Given the description of an element on the screen output the (x, y) to click on. 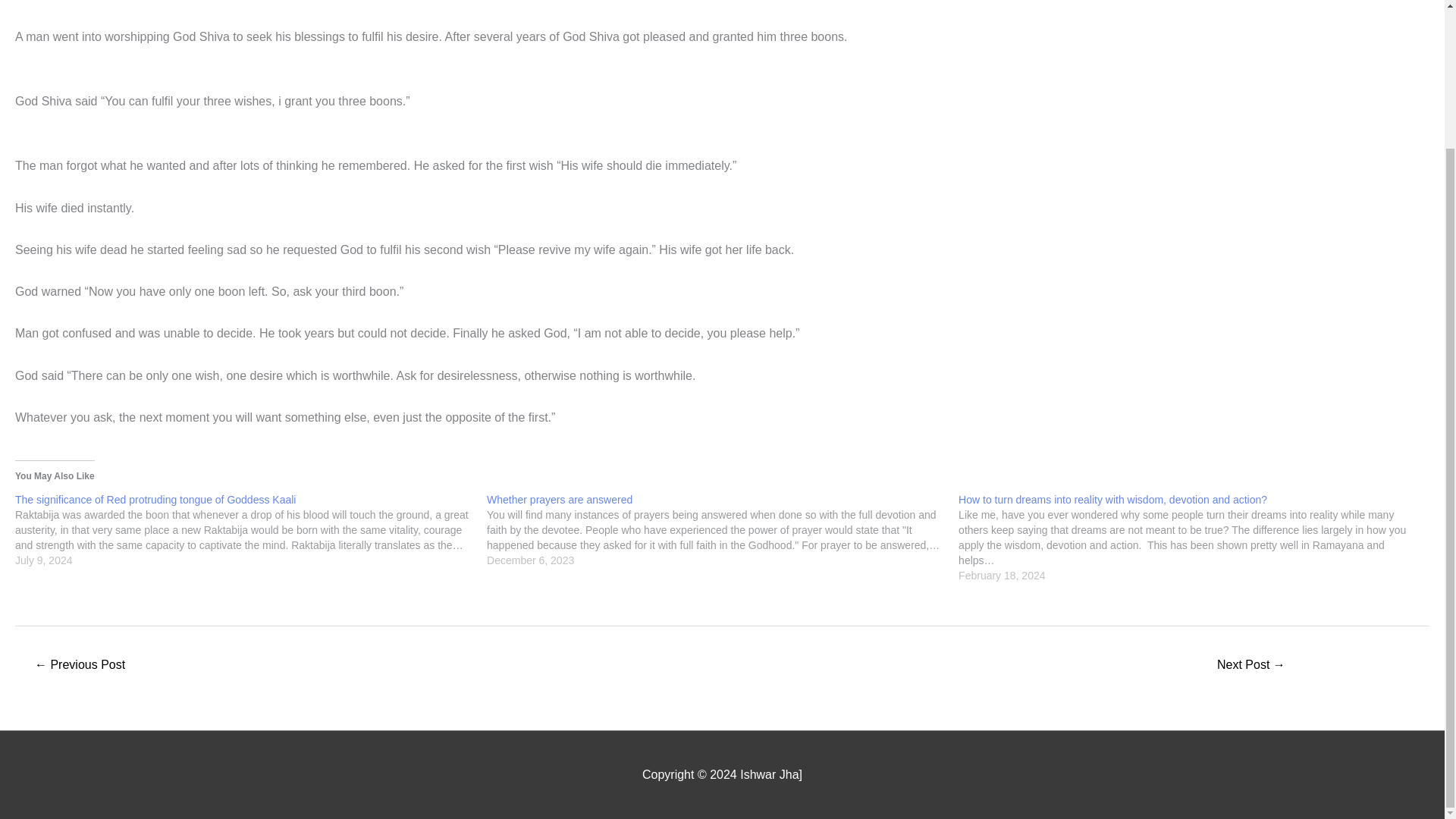
The significance of Red protruding tongue of Goddess Kaali (154, 499)
Gratitude always (1251, 665)
Whether prayers are answered (558, 499)
Whether prayers are answered (558, 499)
Whether prayers are answered (722, 530)
The significance of Red protruding tongue of Goddess Kaali (250, 530)
The significance of Red protruding tongue of Goddess Kaali (154, 499)
